Given the description of an element on the screen output the (x, y) to click on. 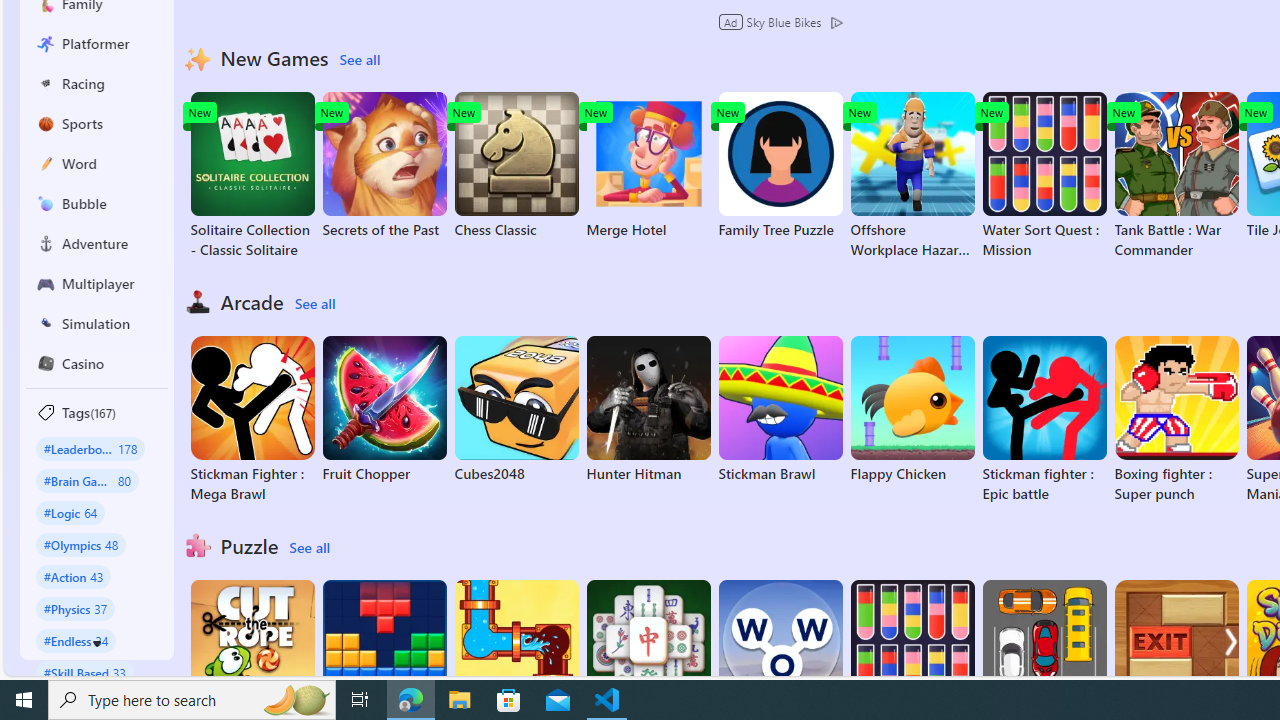
Class: arrow-bottom button-default-style-remove (97, 643)
Stickman Fighter : Mega Brawl (251, 419)
Offshore Workplace Hazard Game (912, 175)
Boxing fighter : Super punch (1176, 419)
#Skill Based 33 (84, 672)
#Olympics 48 (80, 544)
#Leaderboard 178 (90, 448)
Solitaire Collection - Classic Solitaire (251, 175)
Water Sort Quest : Mission (1044, 175)
Fruit Chopper (384, 409)
#Brain Games 80 (87, 480)
#Endless 34 (75, 640)
Cubes2048 (516, 409)
